Given the description of an element on the screen output the (x, y) to click on. 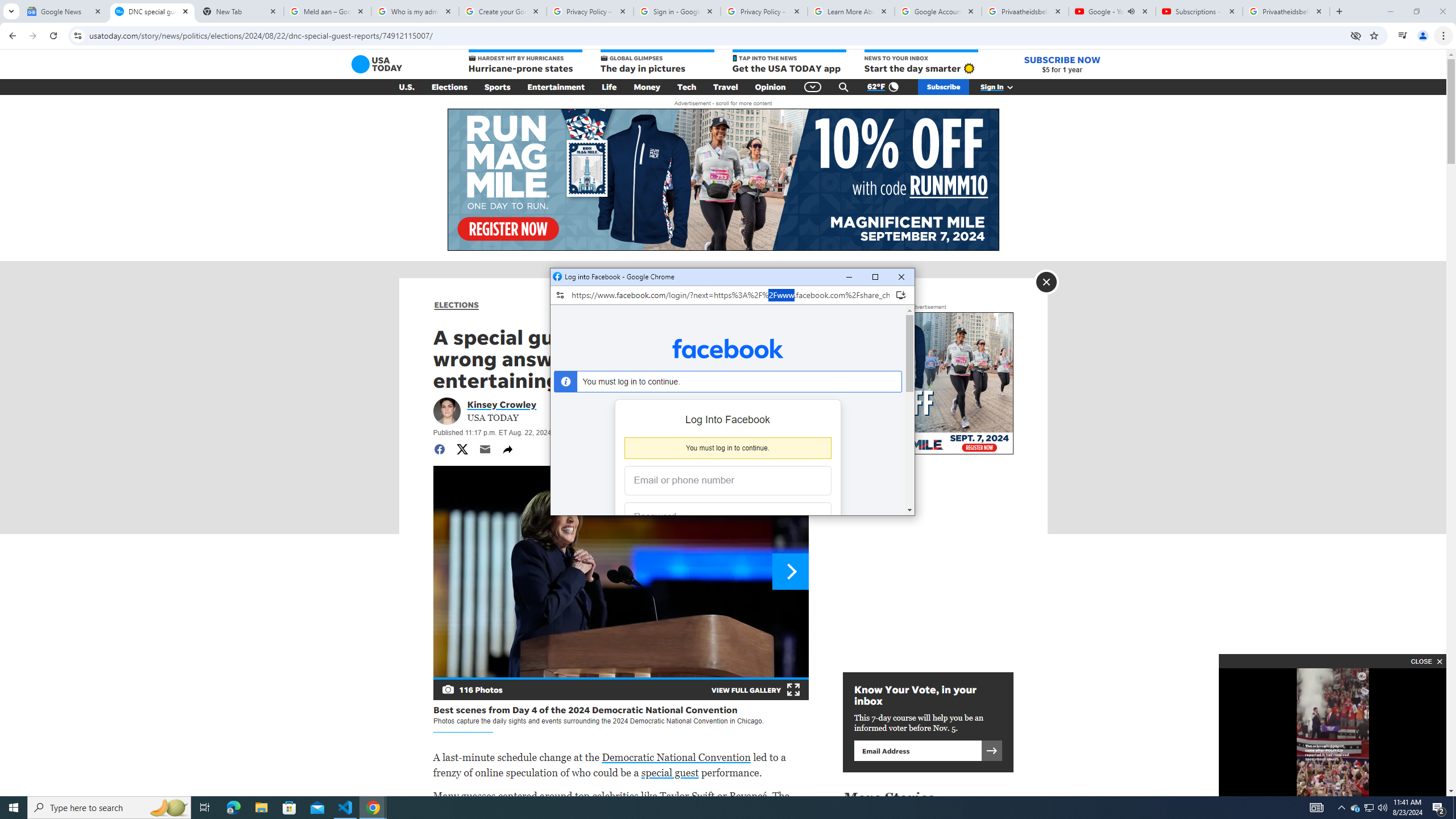
Share to Facebook (438, 449)
special guest (669, 772)
Microsoft Store (289, 807)
Password (719, 517)
Action Center, 2 new notifications (1439, 807)
Who is my administrator? - Google Account Help (415, 11)
Q2790: 100% (1382, 807)
USA TODAY (376, 64)
